Given the description of an element on the screen output the (x, y) to click on. 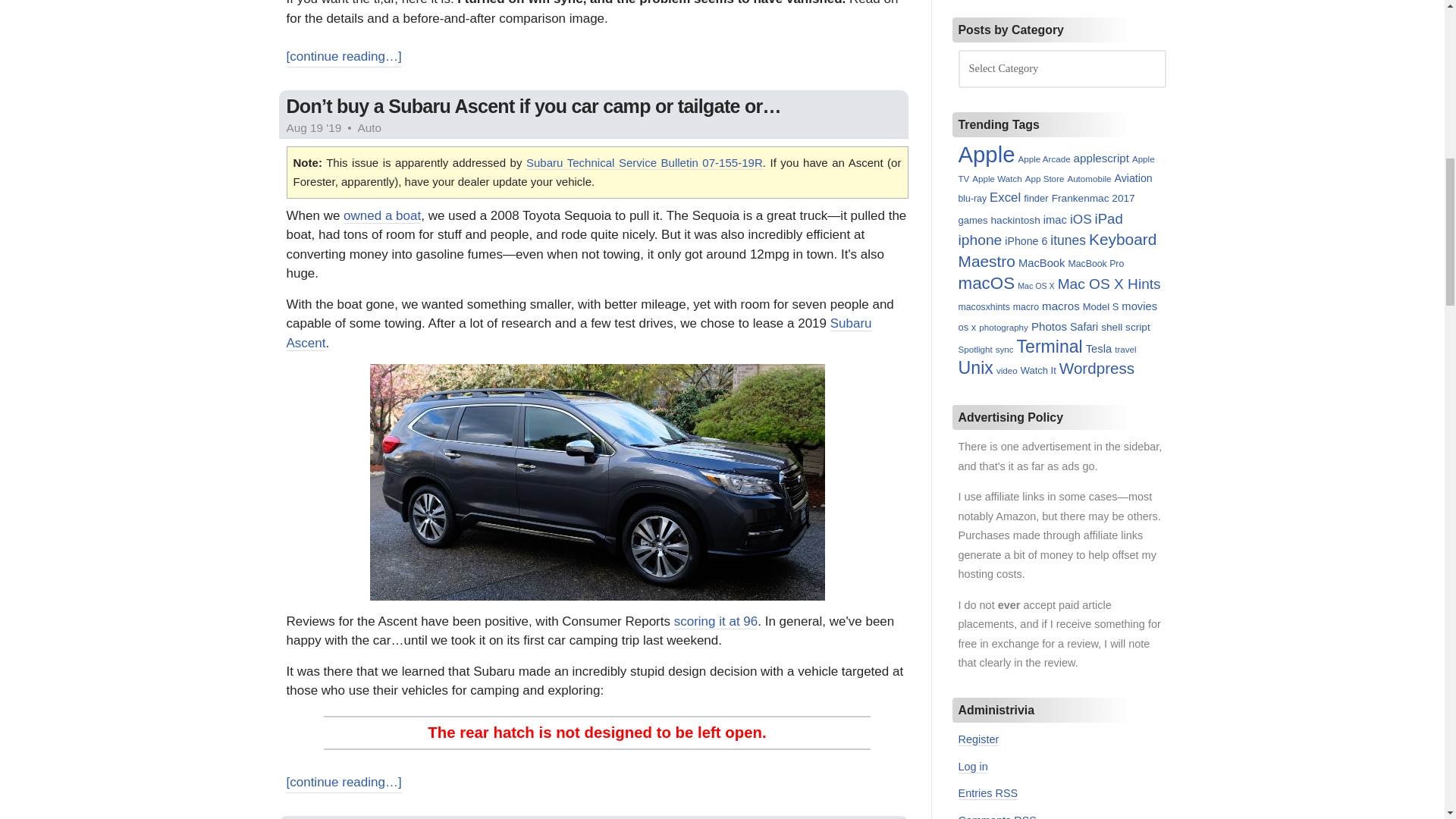
Subaru Ascent (579, 333)
Auto (369, 127)
Really Simple Syndication (1024, 816)
Subaru Technical Service Bulletin 07-155-19R (643, 162)
scoring it at 96 (716, 621)
Really Simple Syndication (1005, 793)
owned a boat (381, 215)
